Given the description of an element on the screen output the (x, y) to click on. 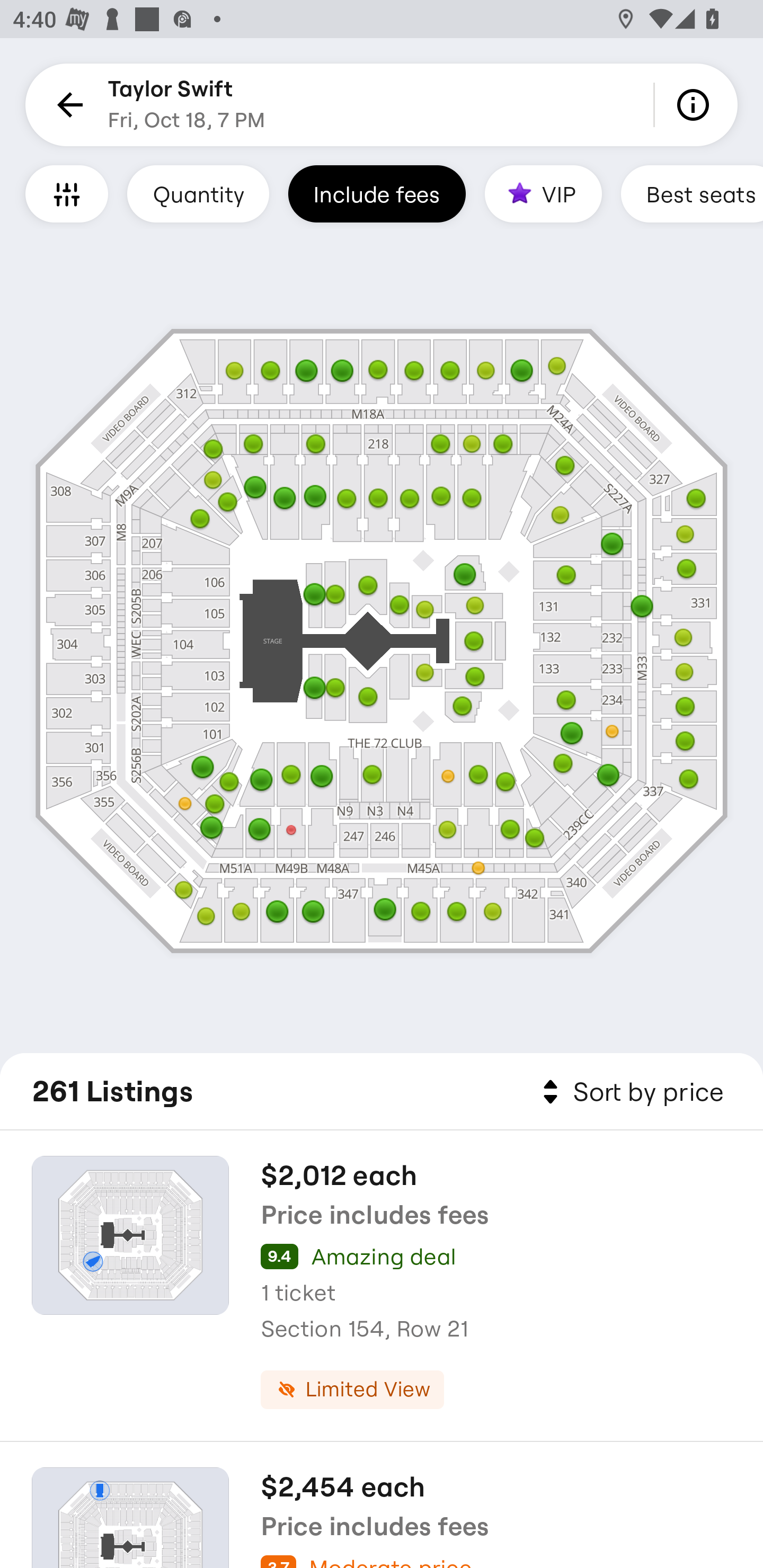
Back Taylor Swift Fri, Oct 18, 7 PM Info (381, 104)
Back (66, 104)
Taylor Swift Fri, Oct 18, 7 PM (186, 104)
Info (695, 104)
Filters and Accessible Seating (66, 193)
Quantity (198, 193)
Include fees (376, 193)
VIP (543, 193)
Best seats (692, 193)
Sort by price (629, 1091)
$2,454 each Price includes fees 3.7 Moderate price (381, 1505)
